Given the description of an element on the screen output the (x, y) to click on. 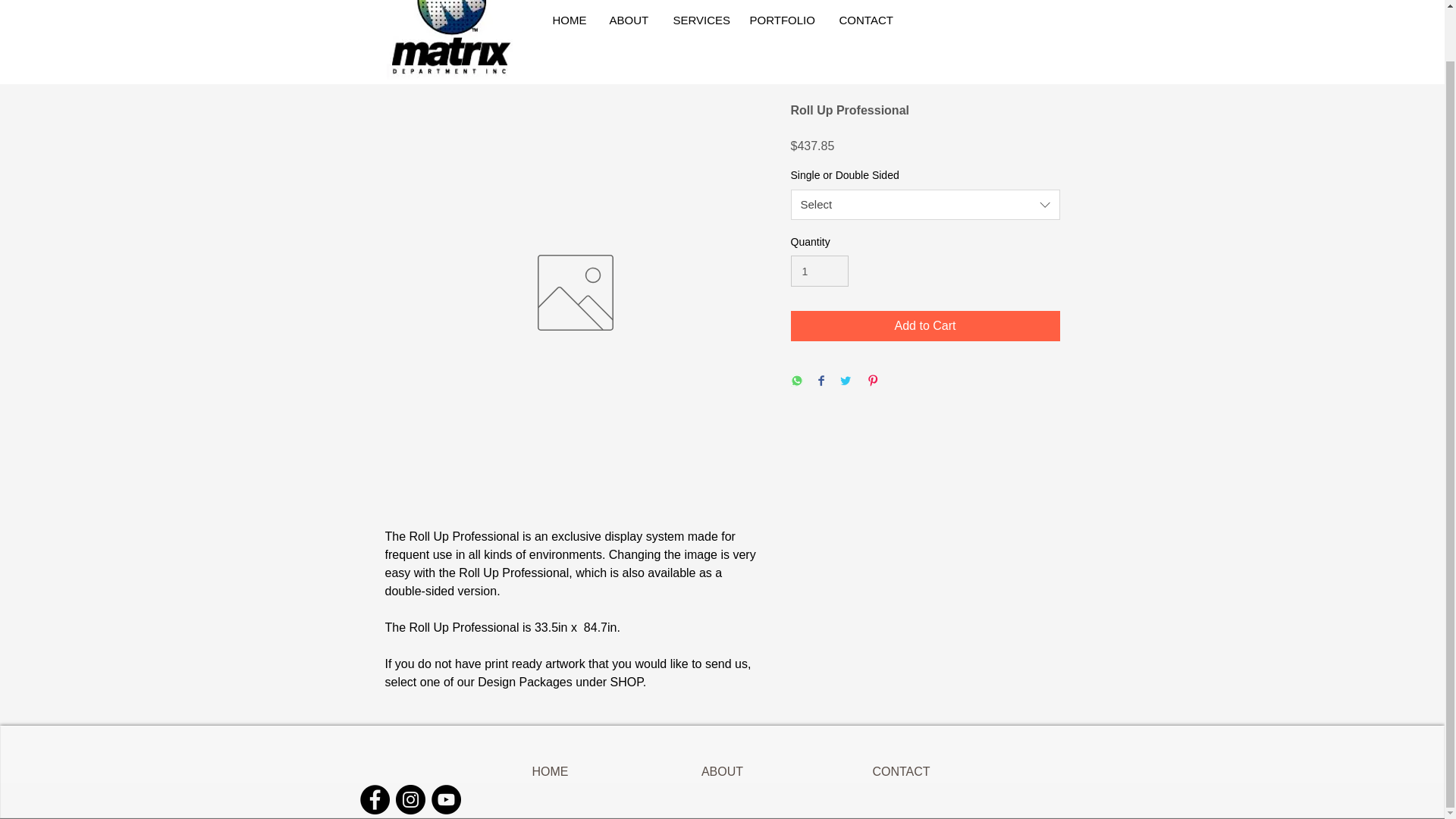
HOME (549, 771)
CONTACT (869, 19)
HOME (569, 19)
1 (818, 270)
ABOUT (722, 771)
PORTFOLIO (783, 19)
CONTACT (901, 771)
SERVICES (699, 19)
Select (924, 204)
ABOUT (628, 19)
